Given the description of an element on the screen output the (x, y) to click on. 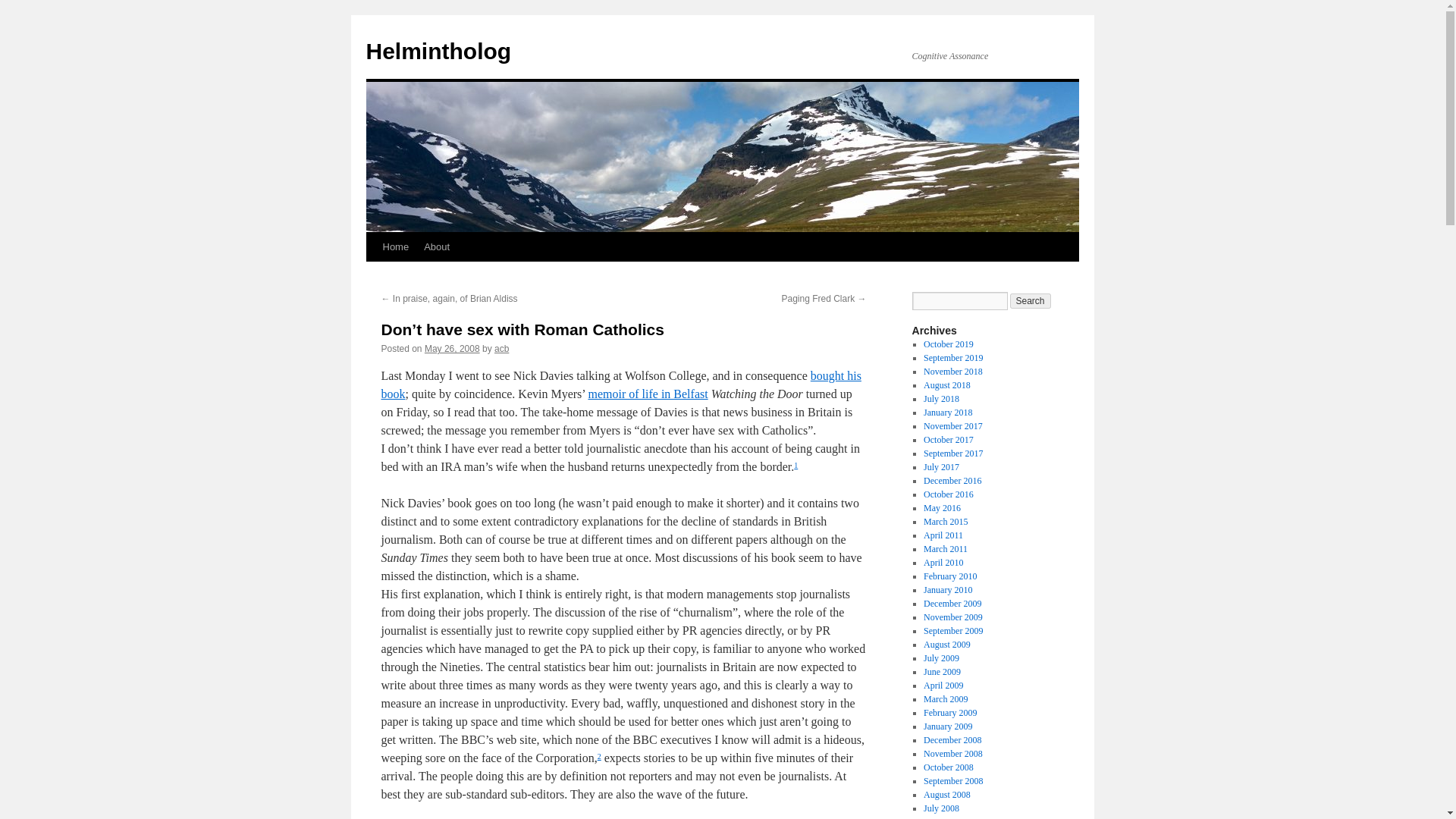
Search (1030, 300)
Helmintholog (438, 50)
bought his book (620, 384)
memoir of life in Belfast (647, 393)
View all posts by acb (501, 348)
October 2019 (948, 344)
May 26, 2008 (452, 348)
About (436, 246)
August 2018 (947, 385)
September 2019 (952, 357)
